Given the description of an element on the screen output the (x, y) to click on. 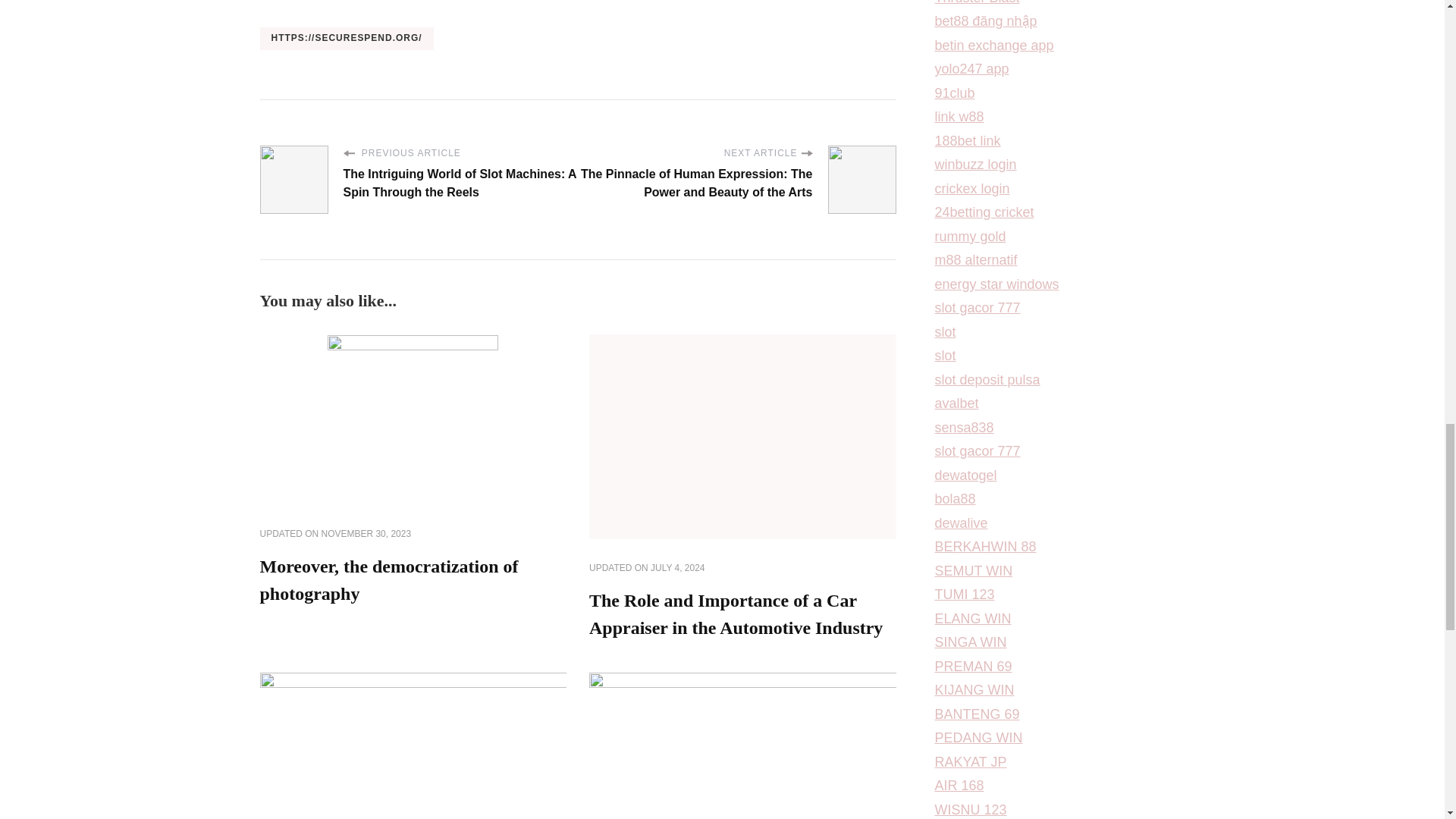
Moreover, the democratization of photography (388, 579)
NOVEMBER 30, 2023 (366, 534)
JULY 4, 2024 (677, 568)
